Given the description of an element on the screen output the (x, y) to click on. 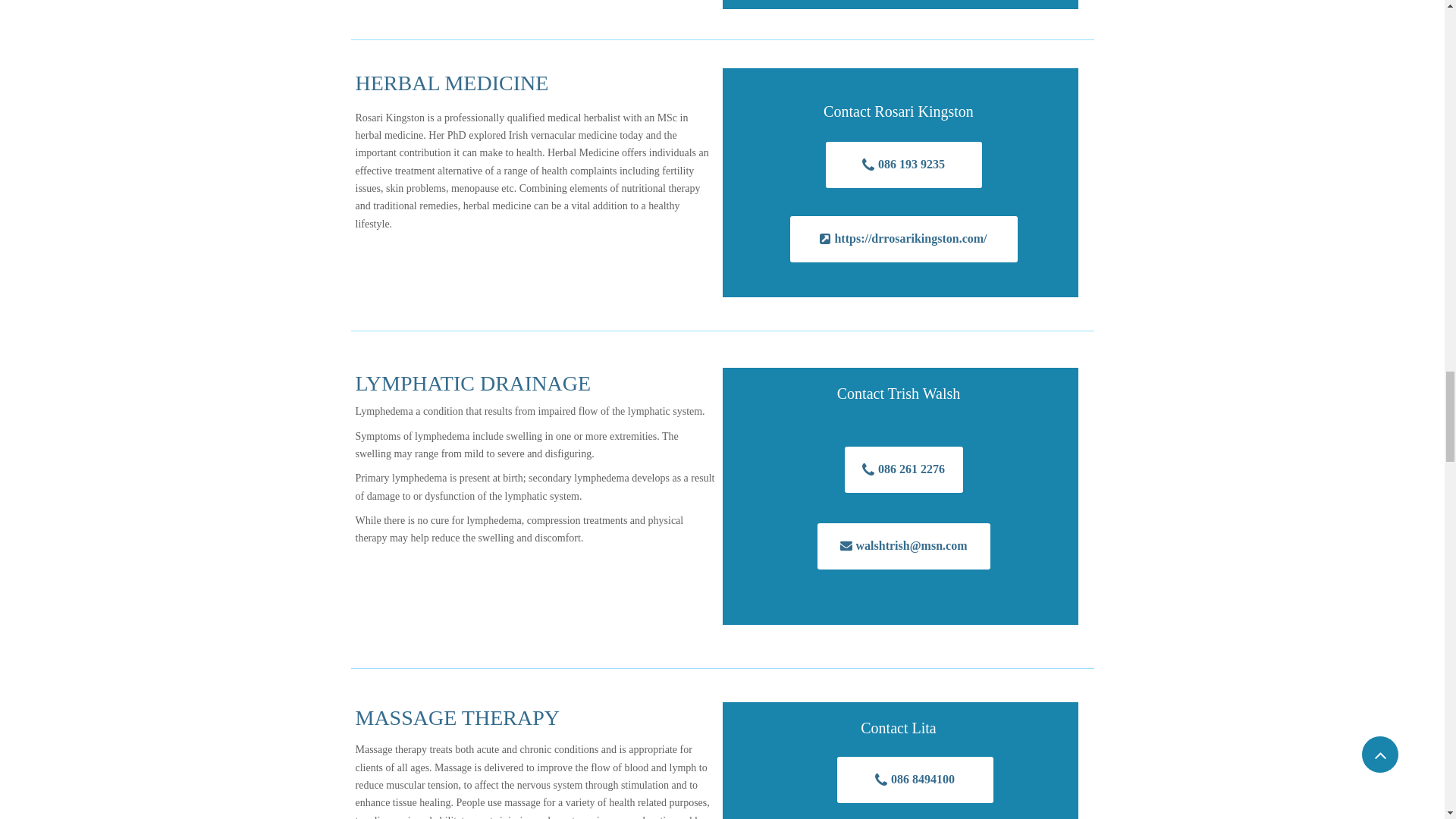
086 261 2276 (903, 469)
086 8494100 (914, 779)
086 193 9235 (903, 164)
